Given the description of an element on the screen output the (x, y) to click on. 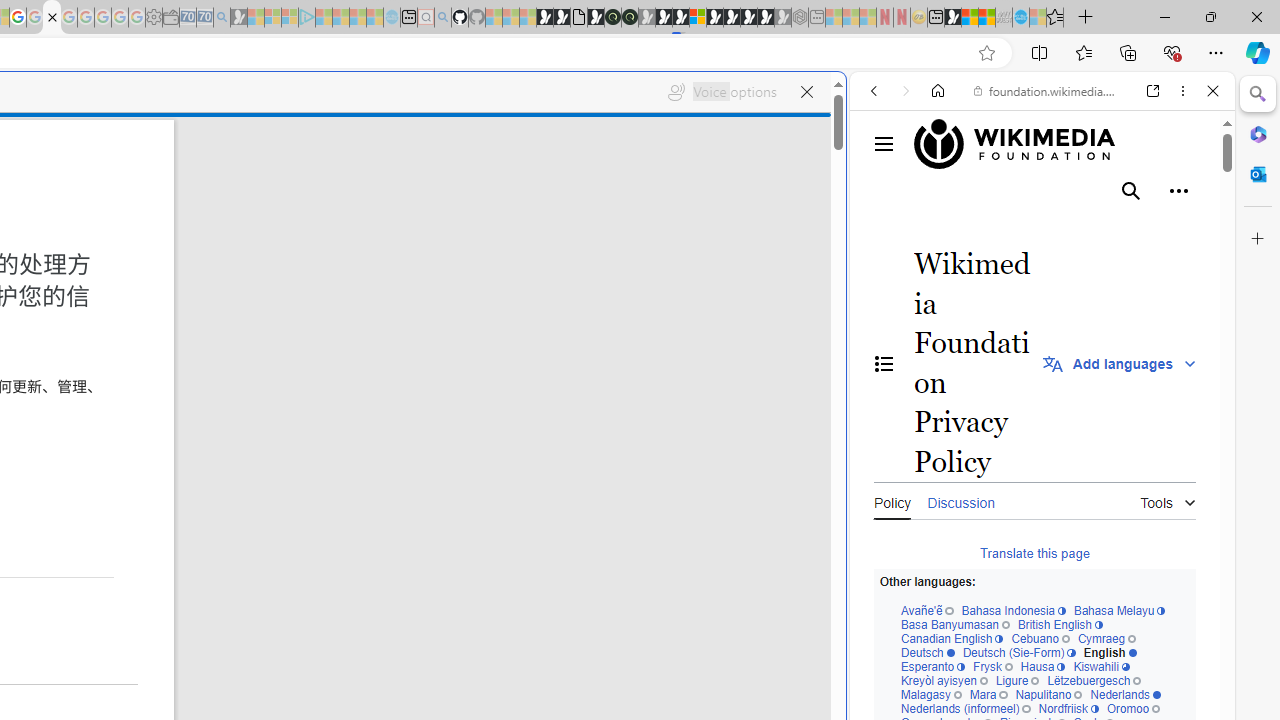
Frysk (992, 667)
Cebuano (1040, 639)
Bahasa Indonesia (1013, 611)
Discussion (960, 500)
foundation.wikimedia.org (1045, 90)
Nordfriisk (1068, 709)
